Given the description of an element on the screen output the (x, y) to click on. 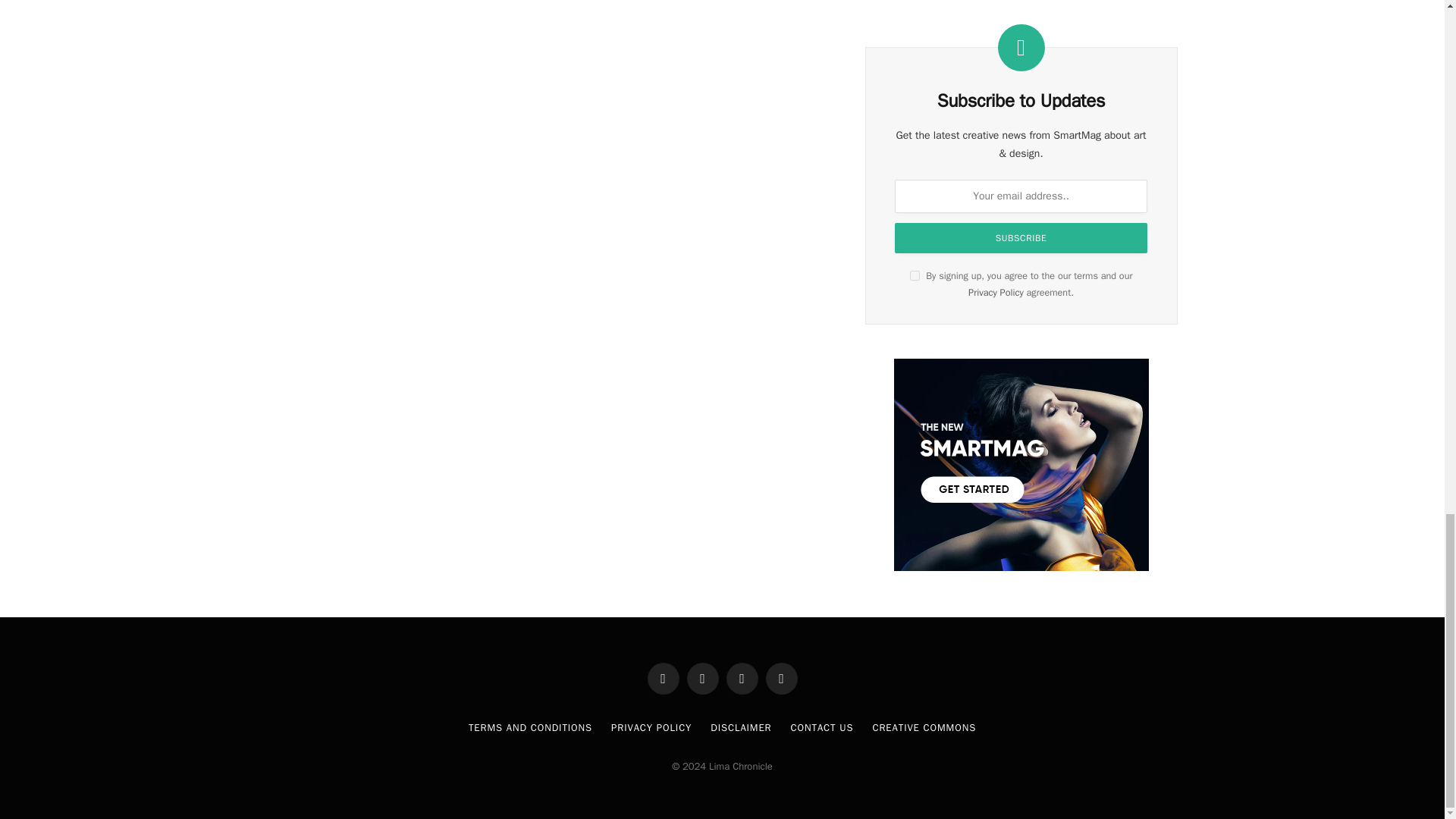
Subscribe (1021, 237)
on (915, 275)
